Given the description of an element on the screen output the (x, y) to click on. 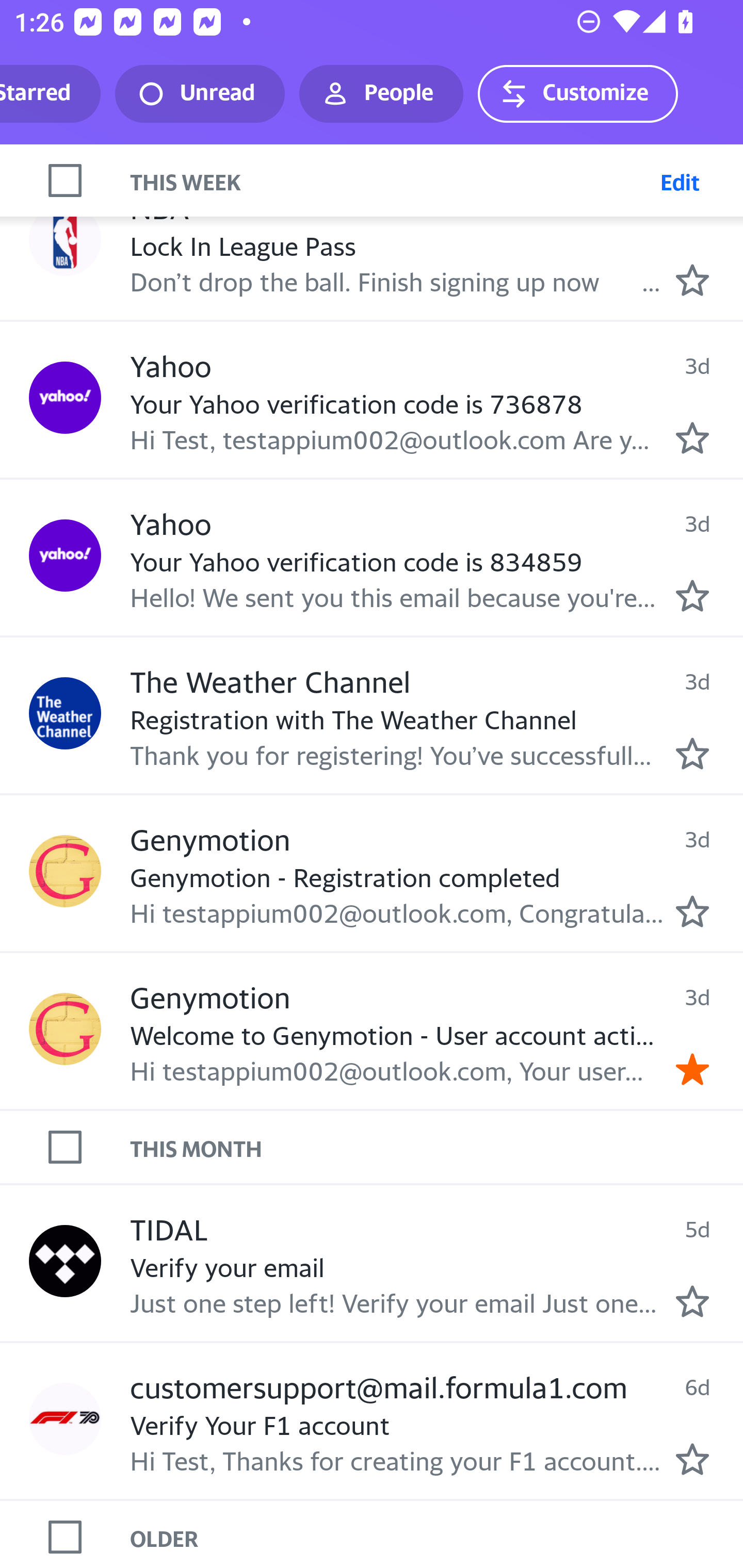
Unread (199, 93)
People (381, 93)
Customize (577, 93)
Profile
NBA (64, 239)
Mark as starred. (692, 279)
Profile
Yahoo (64, 398)
Mark as starred. (692, 438)
Profile
Yahoo (64, 555)
Mark as starred. (692, 595)
Profile
The Weather Channel (64, 713)
Mark as starred. (692, 753)
Profile
Genymotion (64, 871)
Mark as starred. (692, 911)
Profile
Genymotion (64, 1028)
Remove star. (692, 1068)
THIS MONTH (436, 1146)
Profile
TIDAL (64, 1260)
Mark as starred. (692, 1300)
Profile
customersupport@mail.formula1.com (64, 1418)
Mark as starred. (692, 1458)
OLDER (436, 1537)
